Given the description of an element on the screen output the (x, y) to click on. 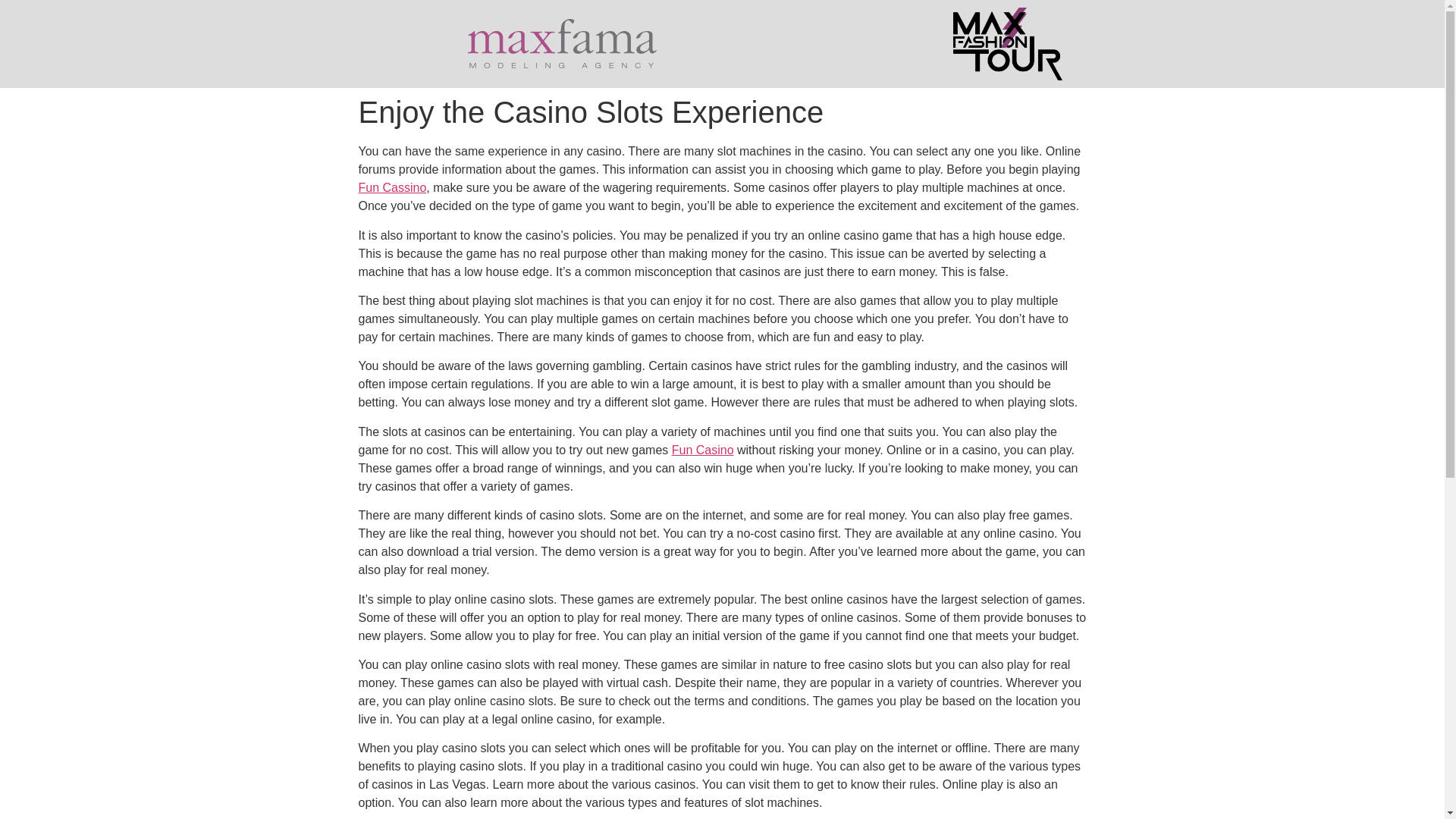
Fun Casino (702, 449)
Fun Cassino (392, 187)
